Given the description of an element on the screen output the (x, y) to click on. 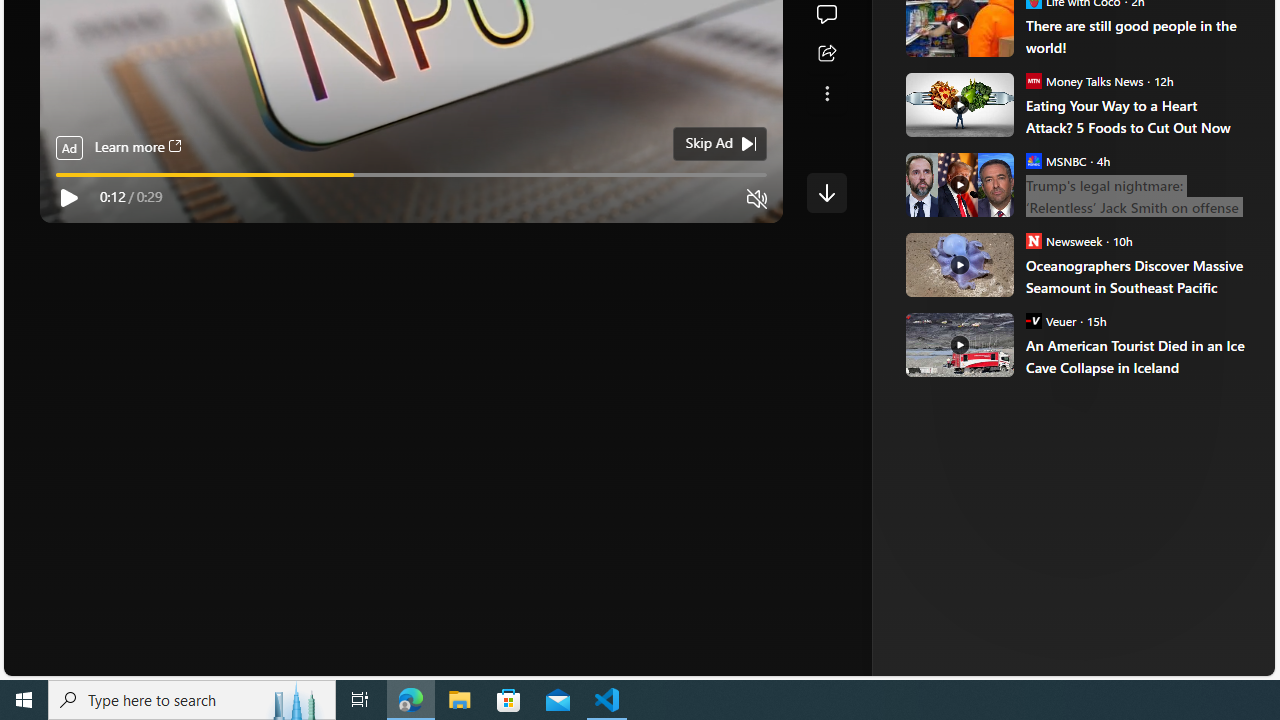
Skip Ad (708, 143)
There are still good people in the world! (1136, 36)
An American Tourist Died in an Ice Cave Collapse in Iceland (958, 344)
Unmute (757, 199)
video progress bar (411, 174)
Share this story (826, 53)
An American Tourist Died in an Ice Cave Collapse in Iceland (1136, 356)
Class: control (826, 192)
Newsweek (1033, 240)
Learn more (137, 147)
MSNBC MSNBC (1055, 160)
MSNBC (1033, 160)
